Given the description of an element on the screen output the (x, y) to click on. 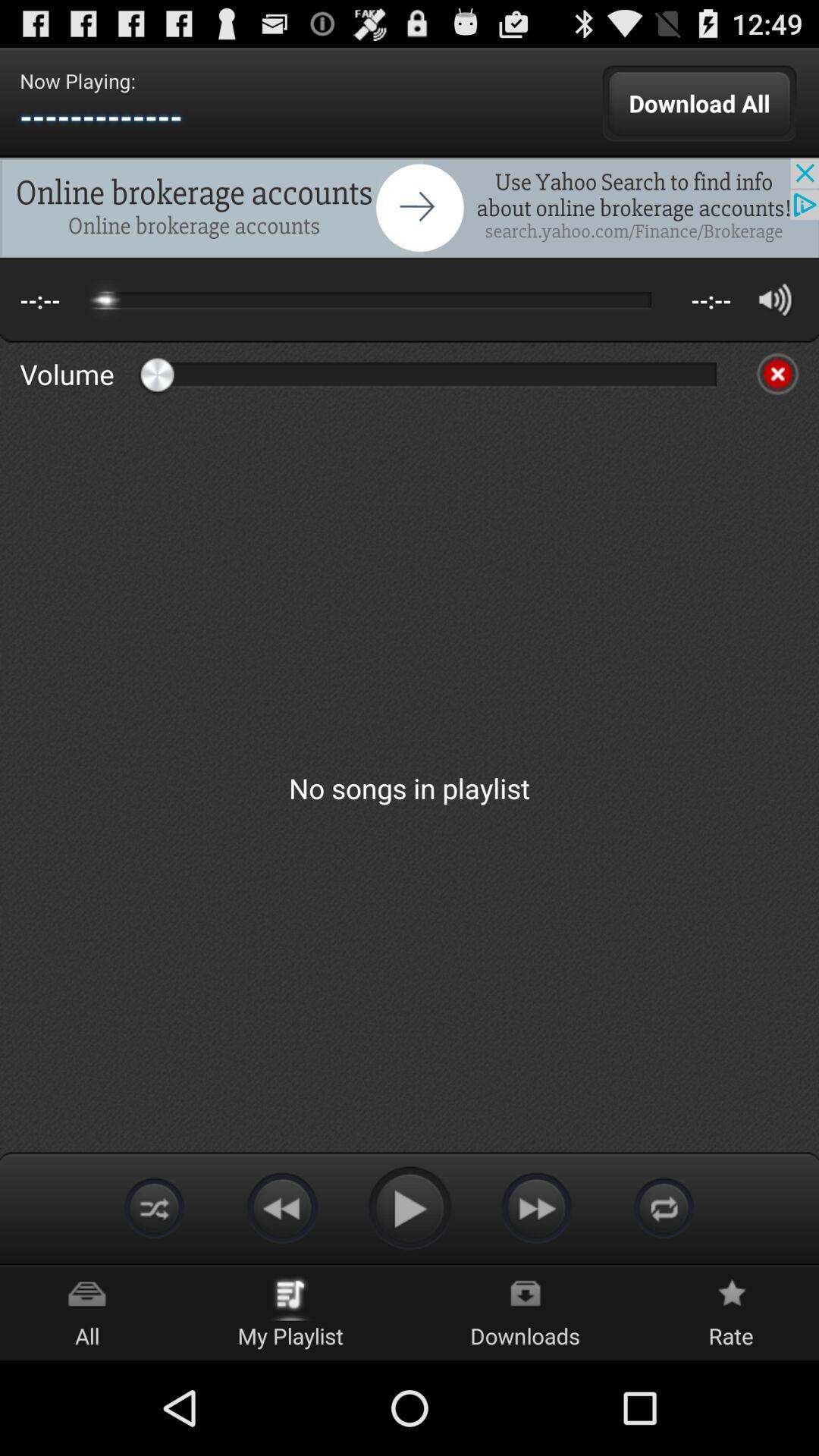
click on shuffle (664, 1207)
